Given the description of an element on the screen output the (x, y) to click on. 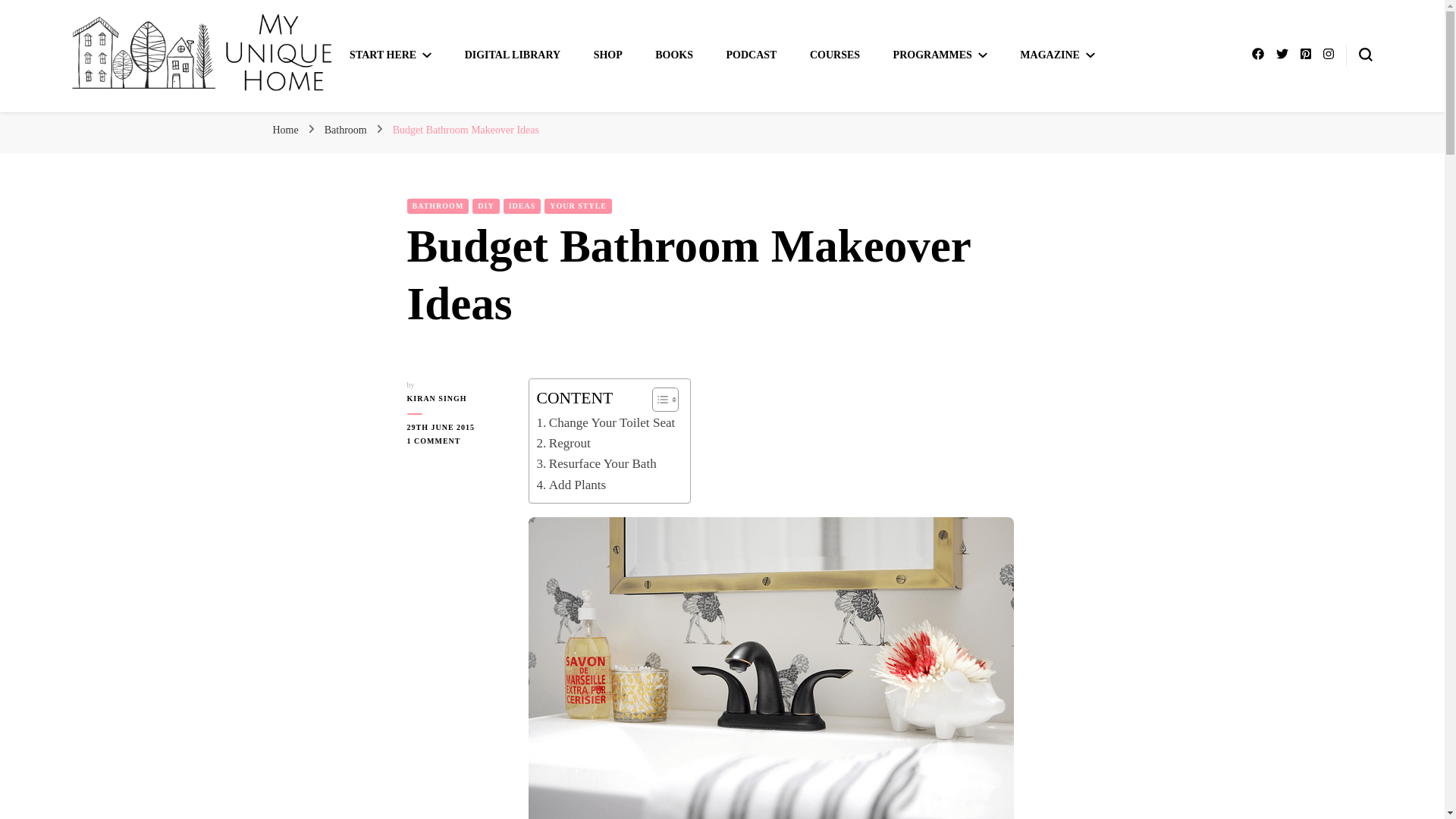
Add Plants (572, 485)
Resurface Your Bath (596, 463)
Regrout (564, 443)
Change Your Toilet Seat (606, 422)
